Given the description of an element on the screen output the (x, y) to click on. 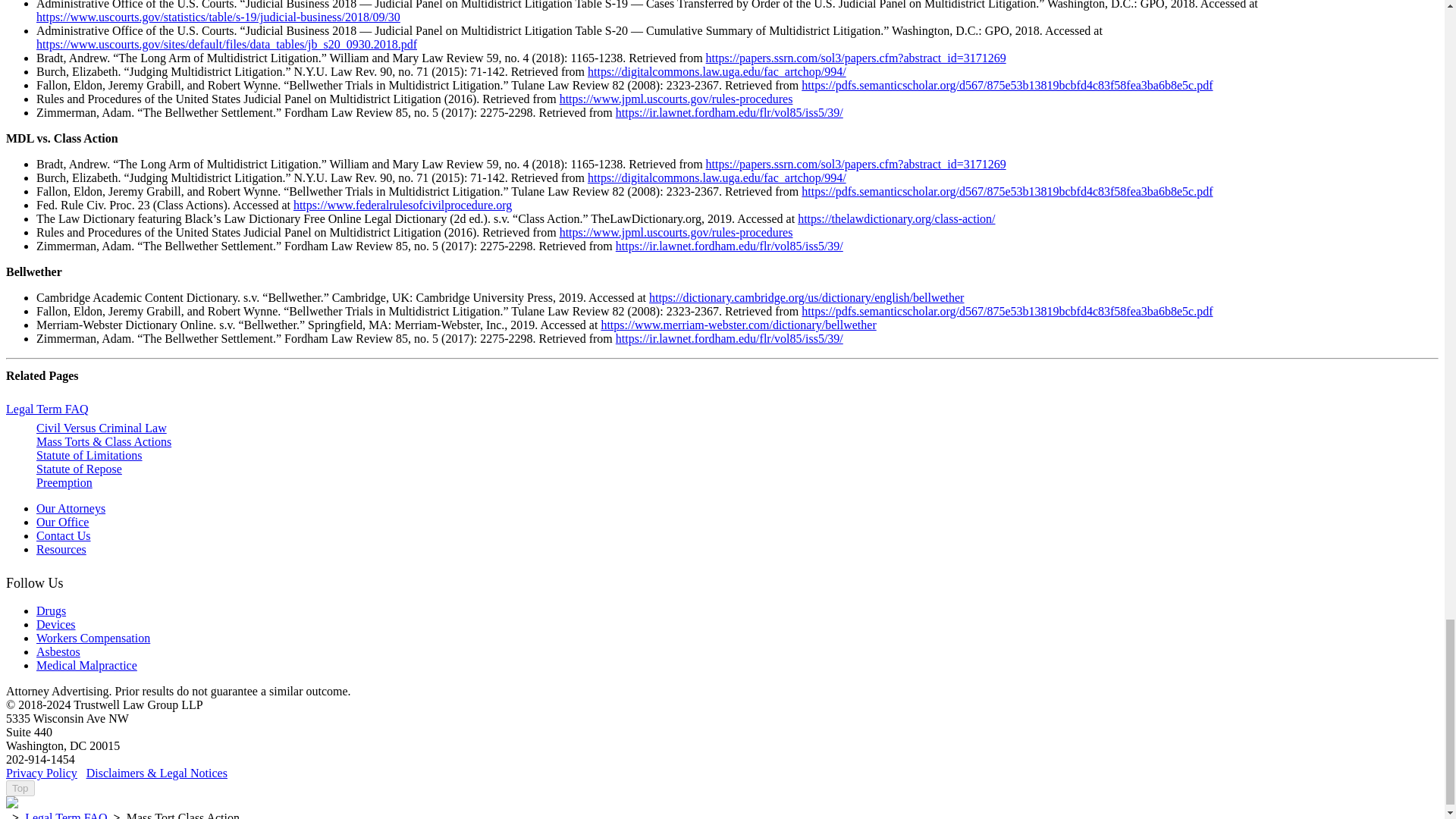
Go to top (19, 788)
